Given the description of an element on the screen output the (x, y) to click on. 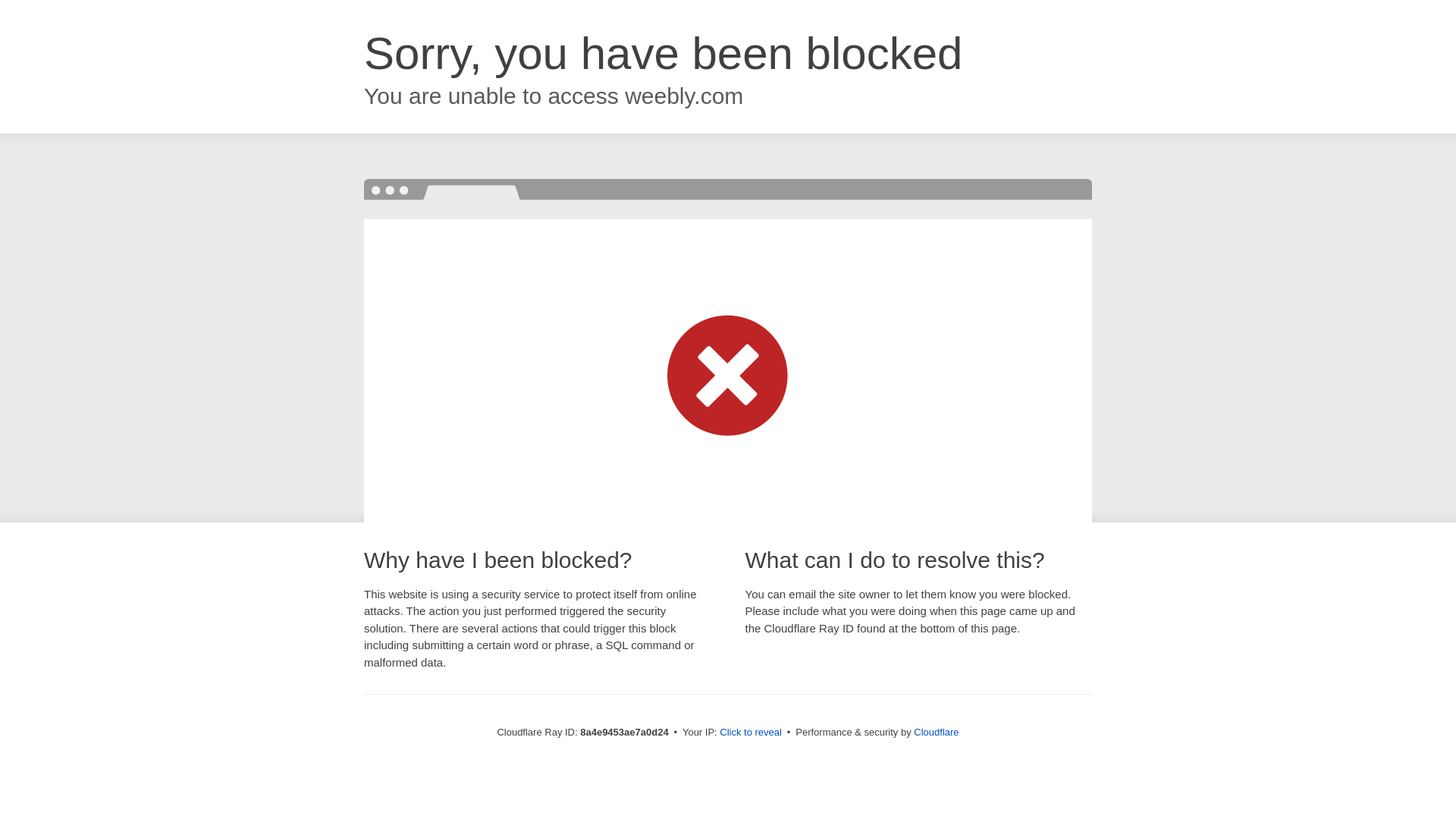
Cloudflare (936, 731)
Click to reveal (750, 732)
